Given the description of an element on the screen output the (x, y) to click on. 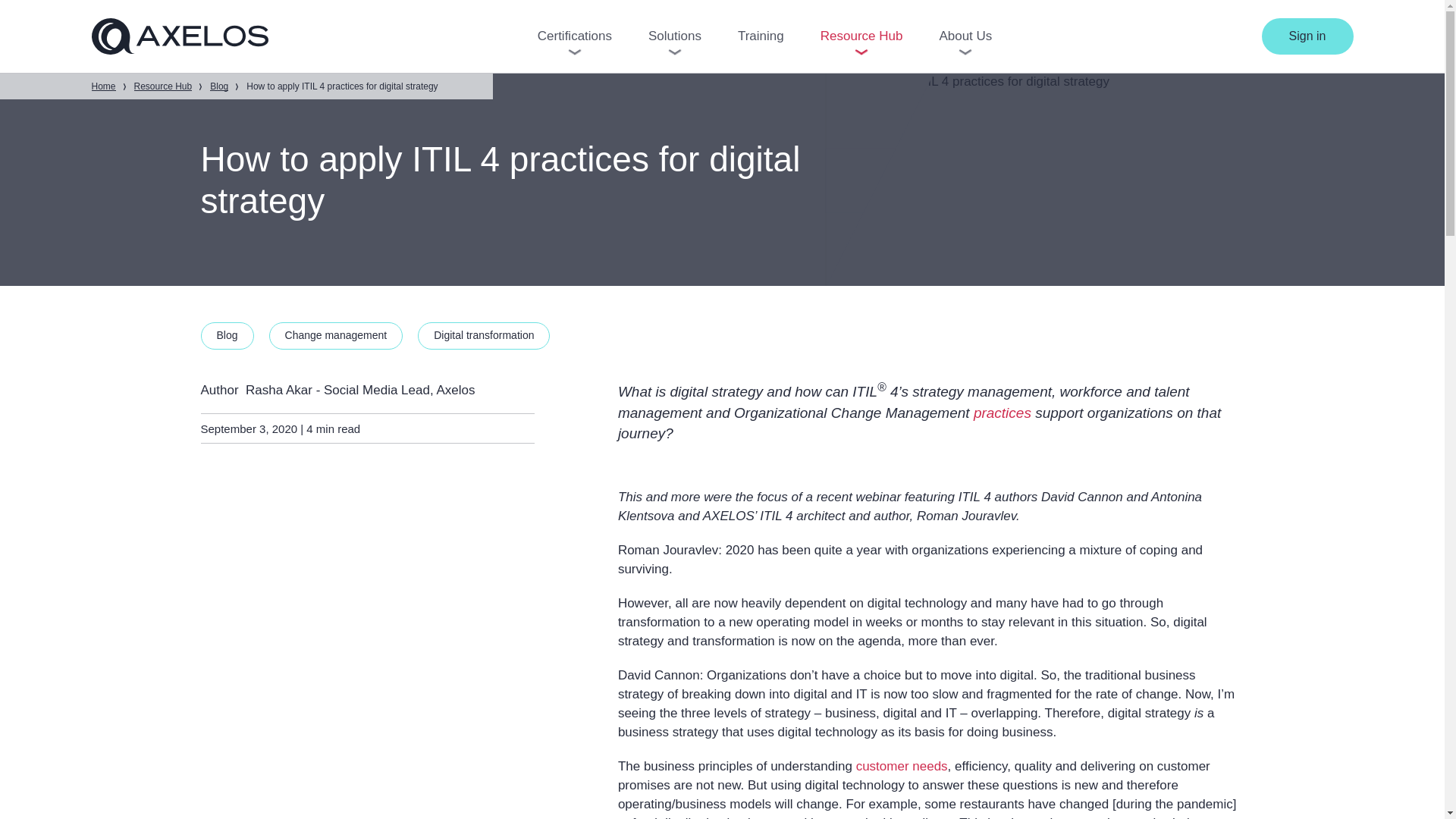
Home (102, 86)
Blog (218, 86)
practices (1002, 412)
Sign in (1308, 36)
customer needs (901, 766)
Resource Hub (861, 36)
Certifications (574, 36)
Resource Hub (162, 86)
